Given the description of an element on the screen output the (x, y) to click on. 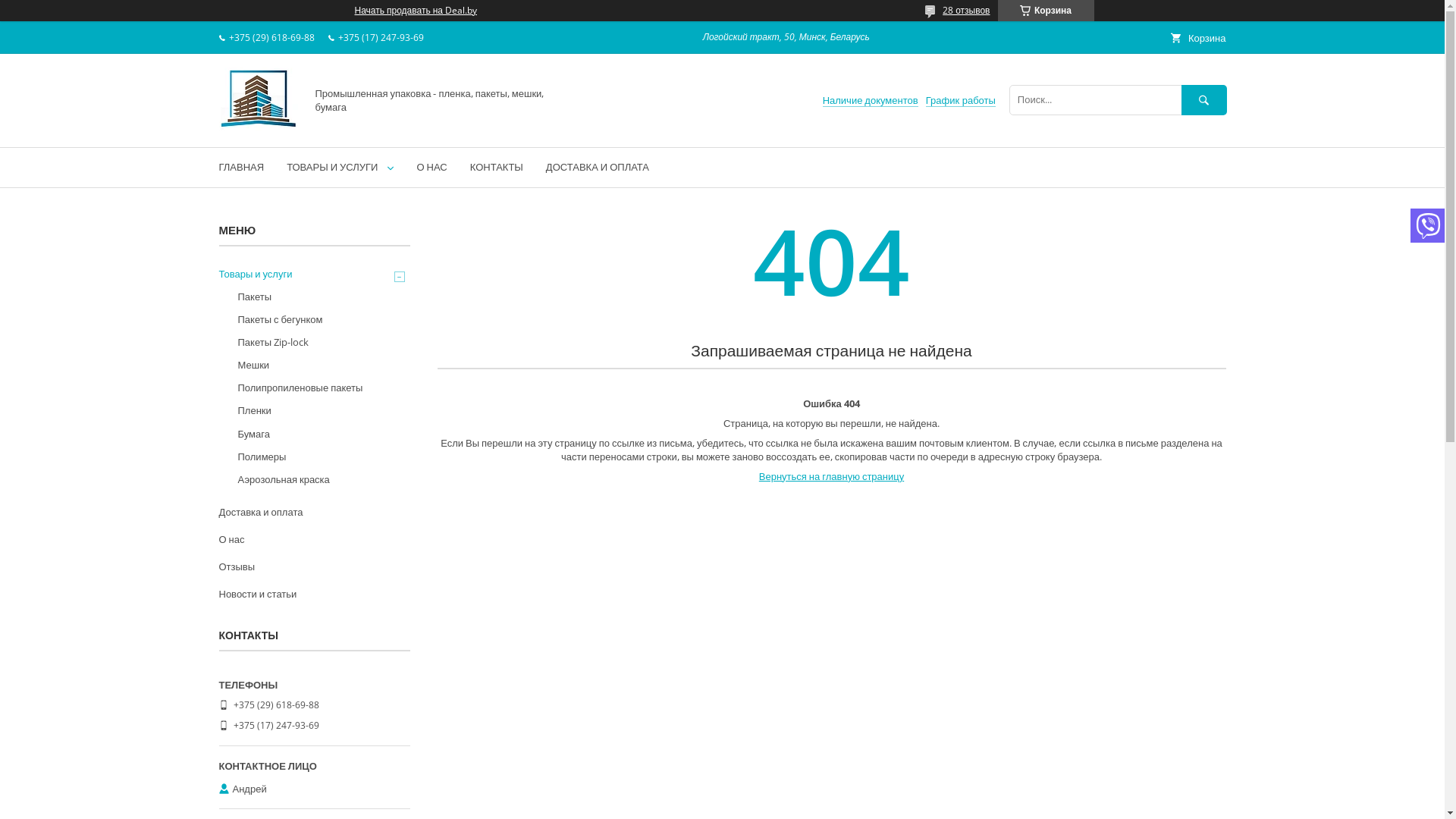
izodom.by Element type: hover (257, 127)
